Given the description of an element on the screen output the (x, y) to click on. 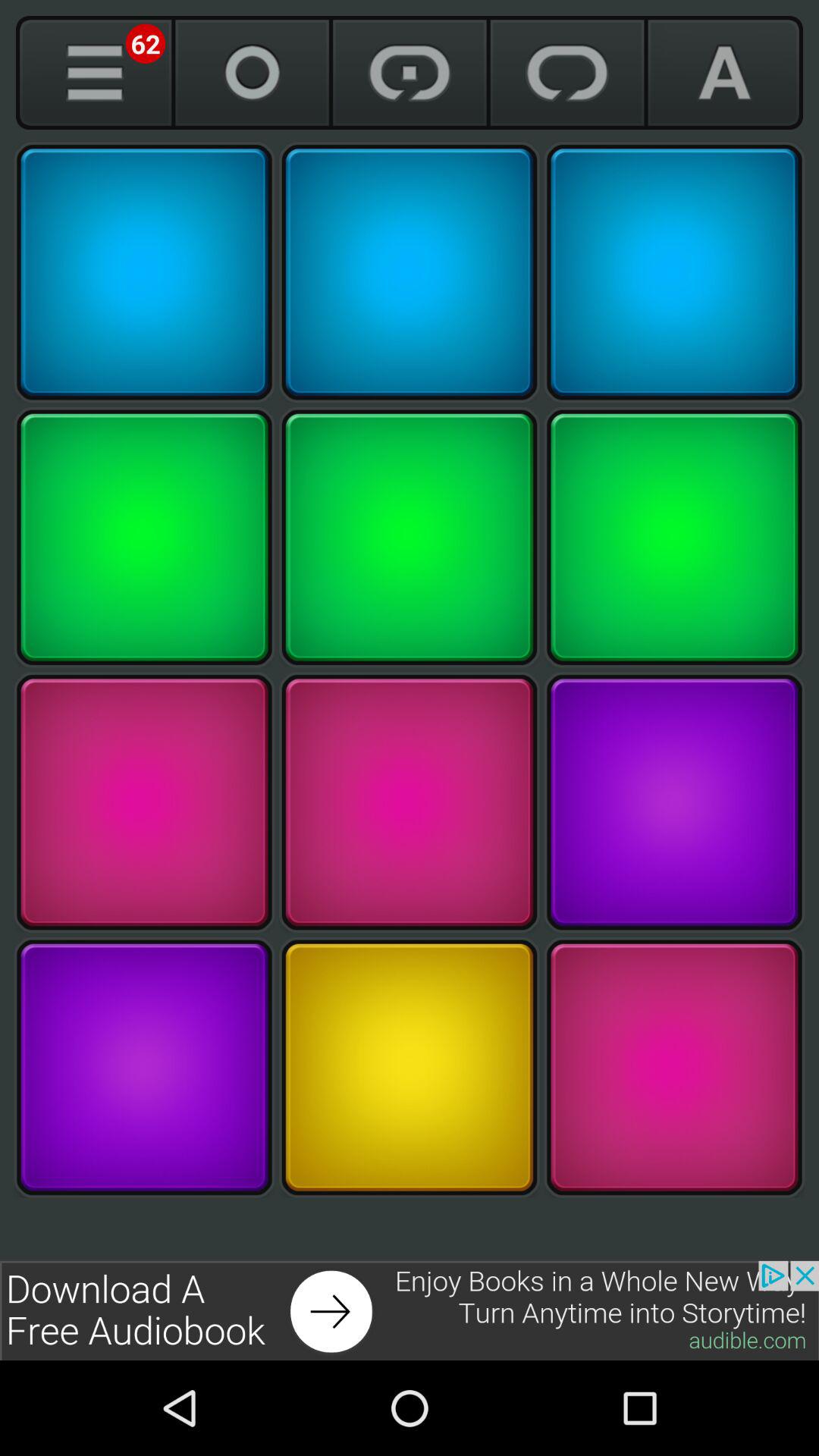
follow the flashing box (144, 1067)
